Given the description of an element on the screen output the (x, y) to click on. 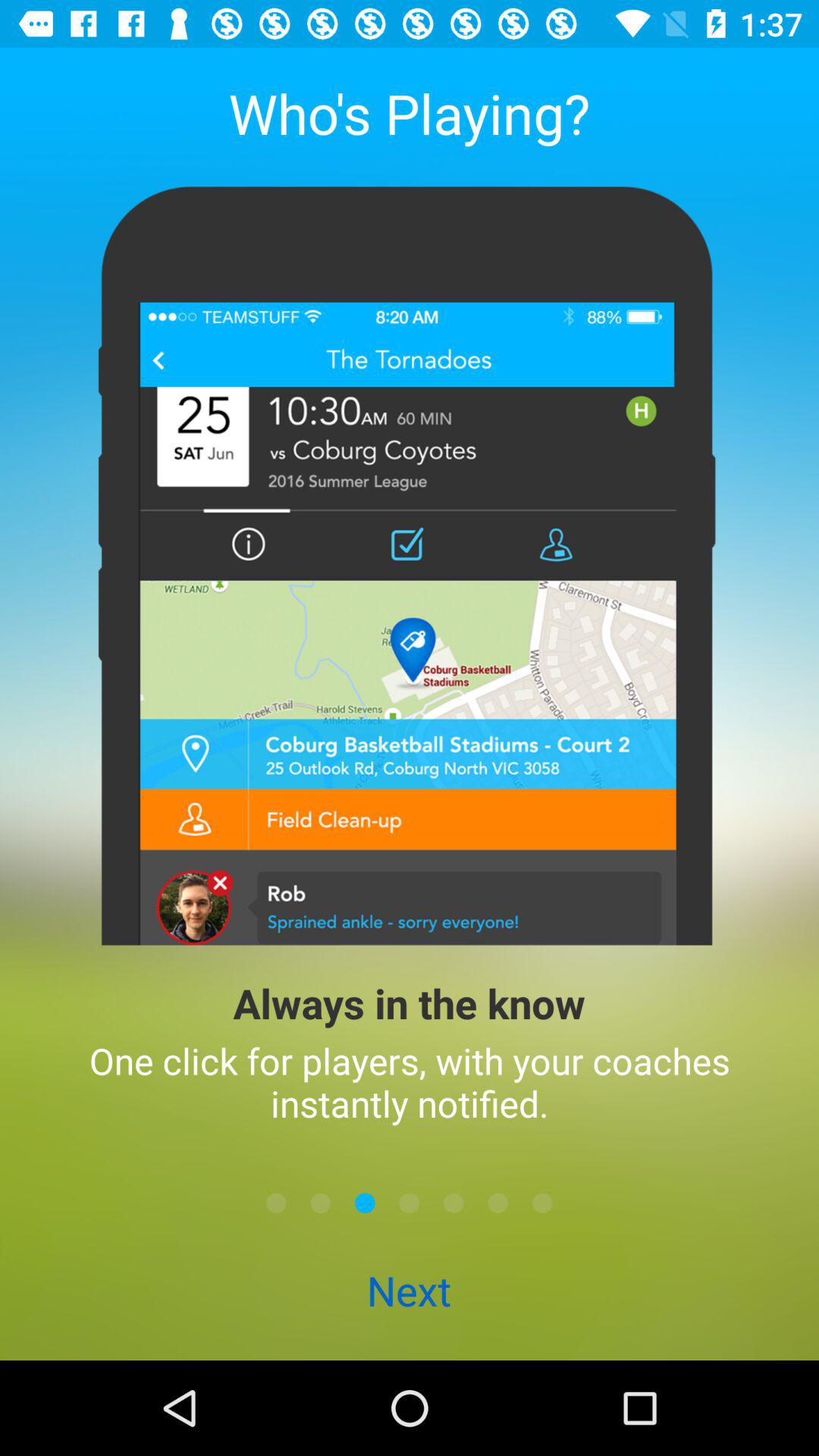
go to next (409, 1203)
